Given the description of an element on the screen output the (x, y) to click on. 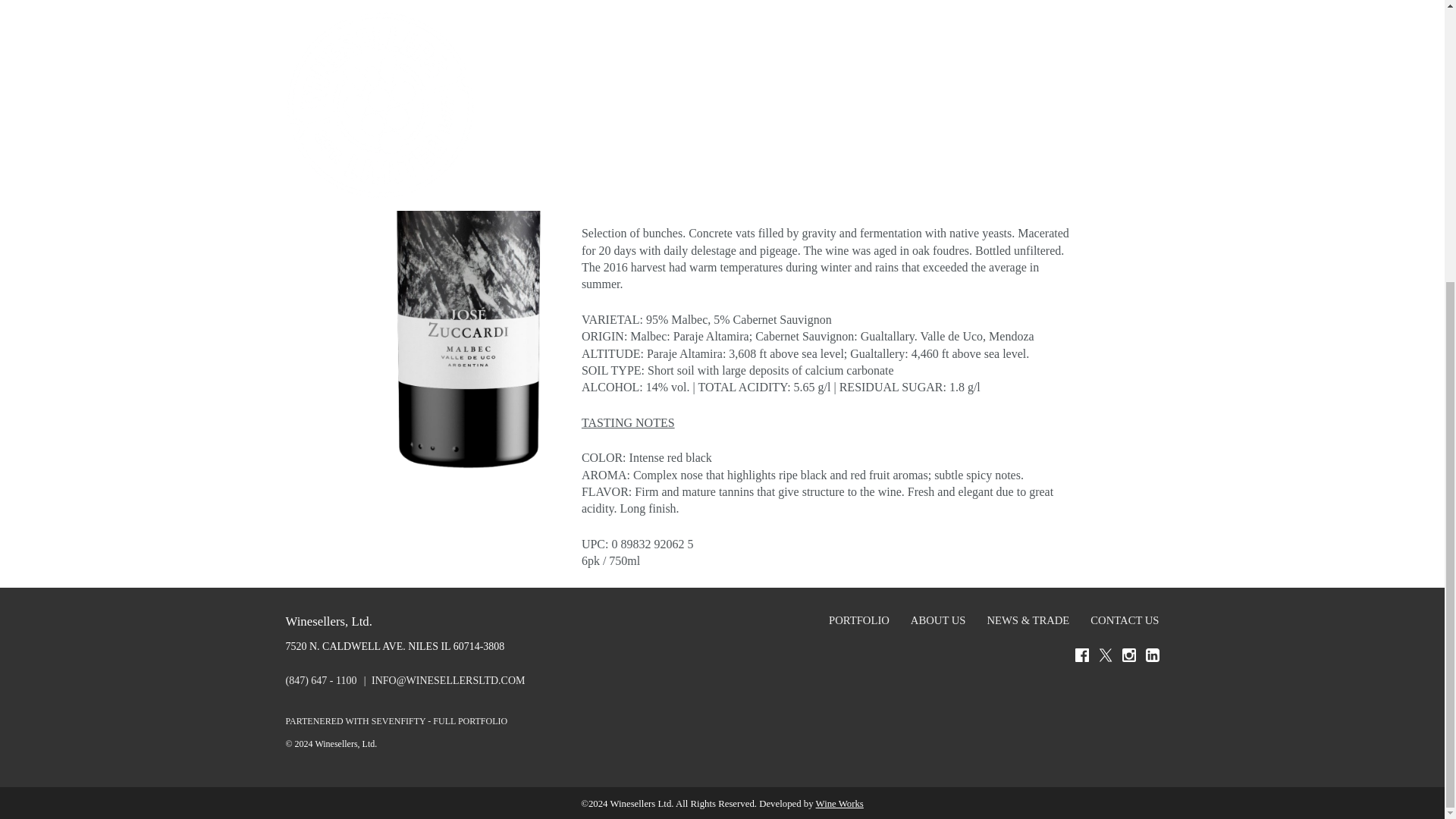
PARTENERED WITH SEVENFIFTY - FULL PORTFOLIO (395, 720)
7520 N. CALDWELL AVE. NILES IL 60714-3808 (394, 645)
CONTACT US (1121, 620)
Wine Works (839, 803)
PORTFOLIO (858, 620)
ABOUT US (938, 620)
